Given the description of an element on the screen output the (x, y) to click on. 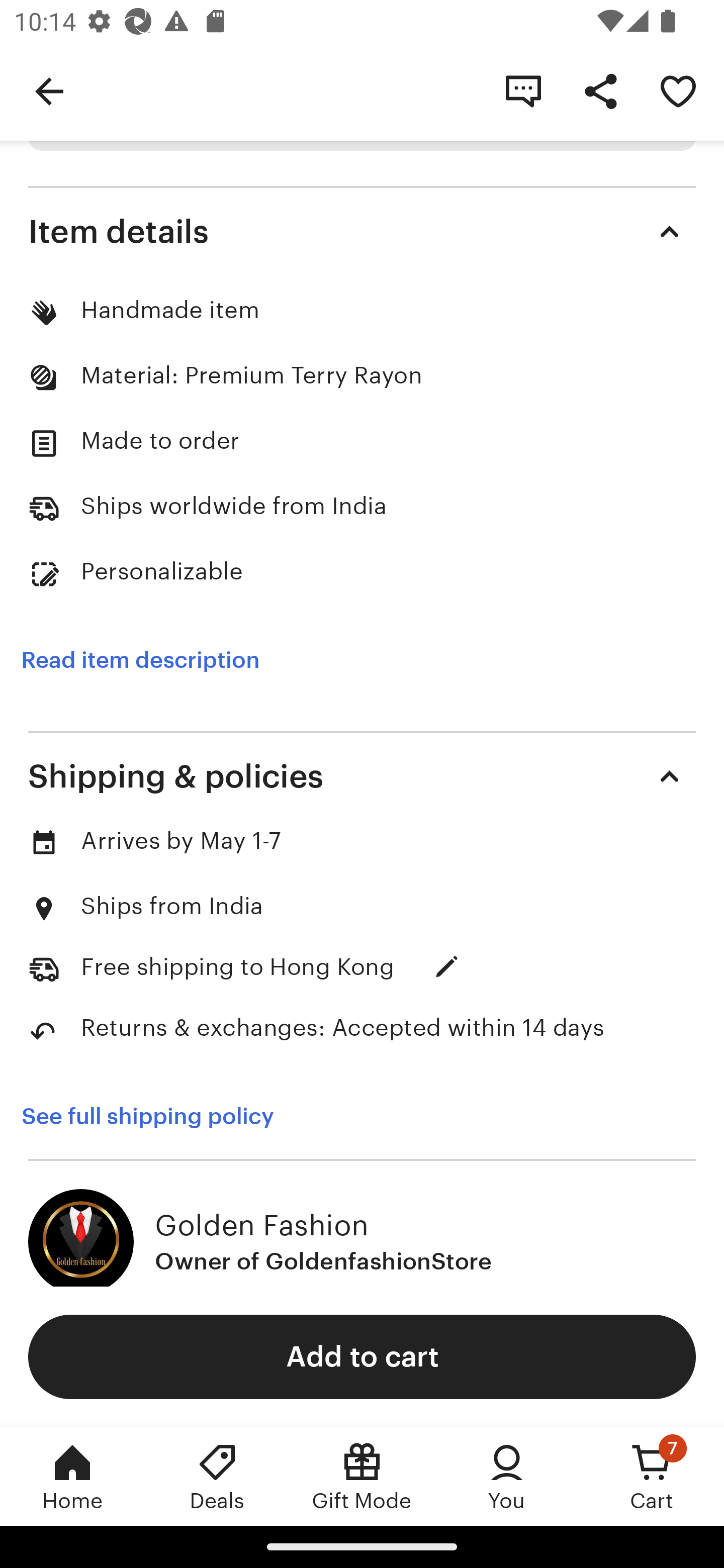
Navigate up (49, 90)
Contact shop (523, 90)
Share (600, 90)
Item details (362, 231)
Read item description (140, 659)
Shipping & policies (362, 775)
Update (446, 967)
See full shipping policy (161, 1116)
Add to cart (361, 1355)
Deals (216, 1475)
Gift Mode (361, 1475)
You (506, 1475)
Cart, 7 new notifications Cart (651, 1475)
